Given the description of an element on the screen output the (x, y) to click on. 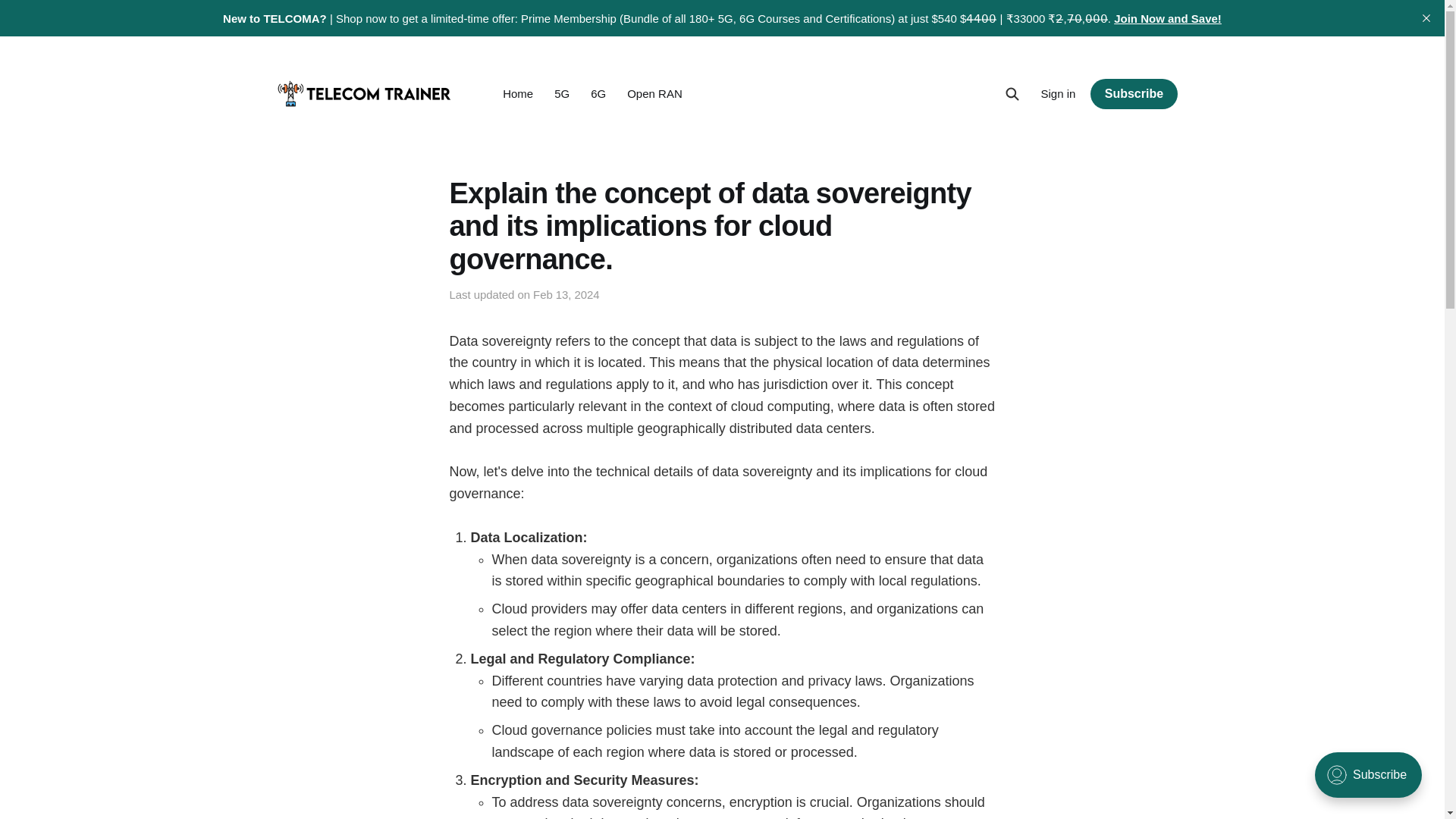
Home (517, 92)
Join Now and Save! (1167, 18)
6G (598, 92)
5G (561, 92)
Open RAN (654, 92)
Subscribe (1133, 93)
Sign in (1058, 94)
